Given the description of an element on the screen output the (x, y) to click on. 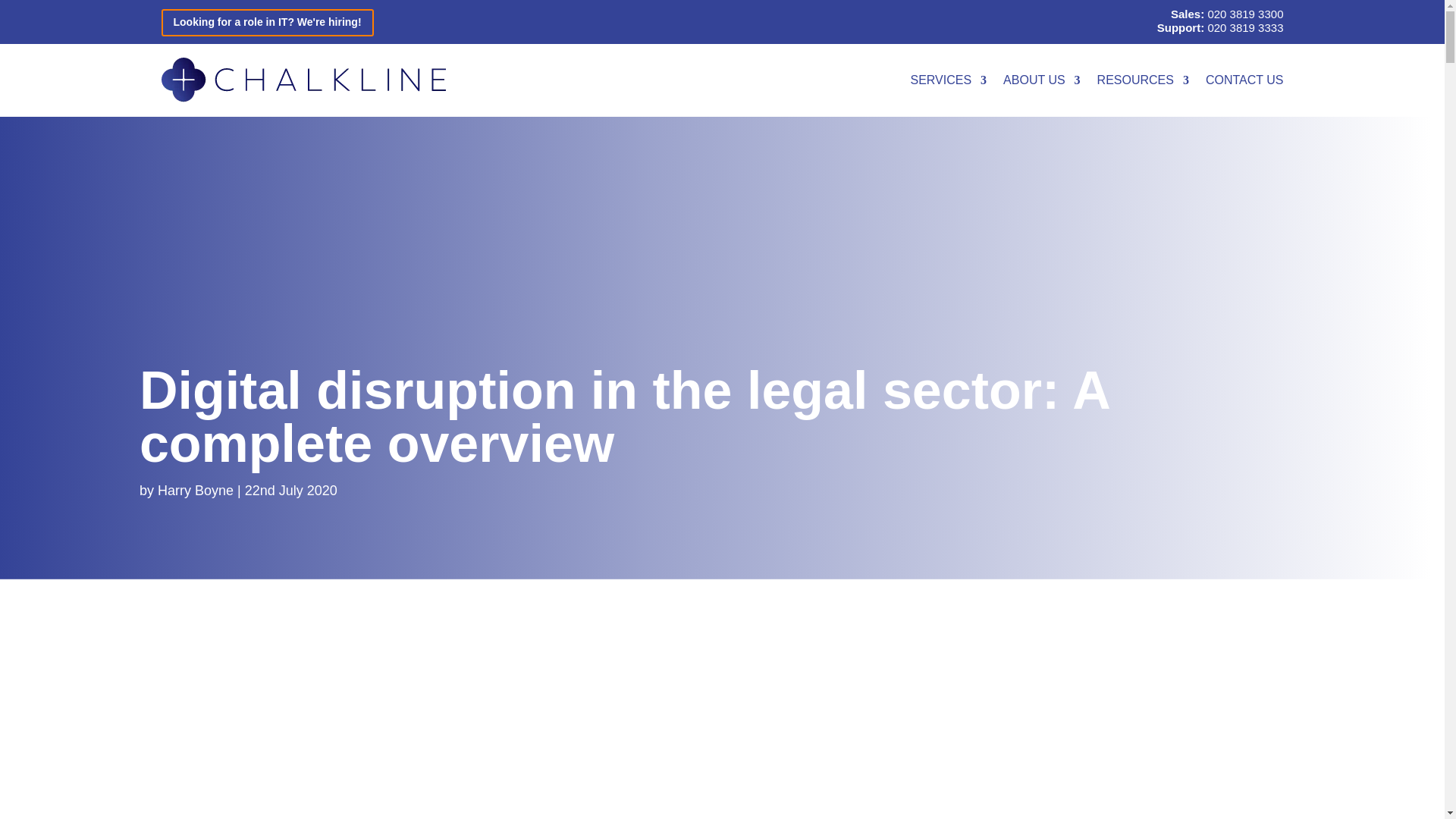
020 3819 3300 (1244, 13)
020 3819 3333 (1244, 27)
SERVICES (948, 79)
Posts by Harry Boyne (194, 490)
Looking for a role in IT? We're hiring! (266, 22)
ABOUT US (1041, 79)
CONTACT US (1244, 79)
RESOURCES (1143, 79)
Harry Boyne (194, 490)
